Given the description of an element on the screen output the (x, y) to click on. 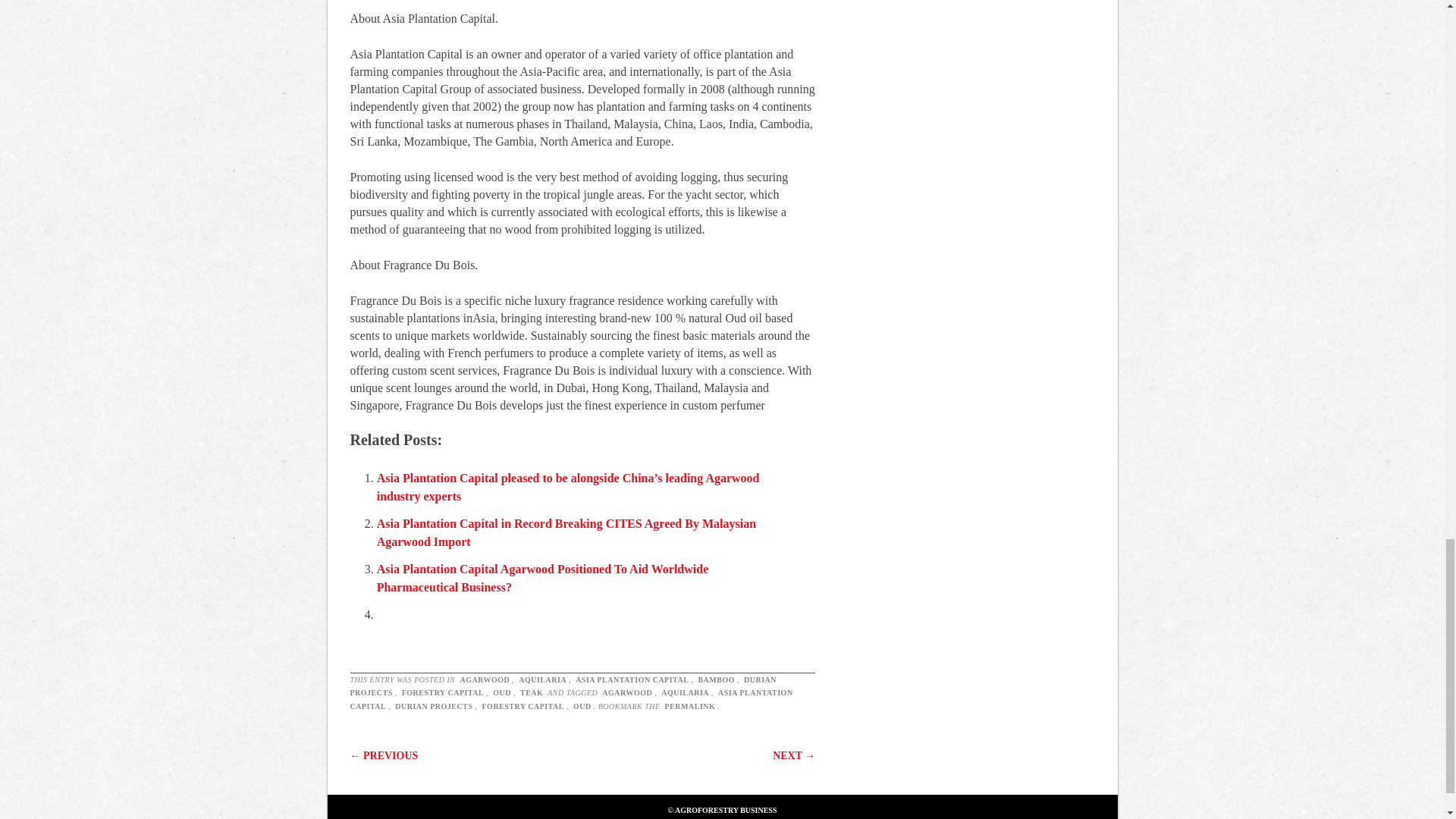
AGARWOOD (484, 679)
OUD (582, 705)
BAMBOO (715, 679)
DURIAN PROJECTS (433, 705)
AQUILARIA (685, 692)
OUD (501, 692)
TEAK (531, 692)
ASIA PLANTATION CAPITAL (571, 699)
AQUILARIA (542, 679)
AGARWOOD (626, 692)
